Given the description of an element on the screen output the (x, y) to click on. 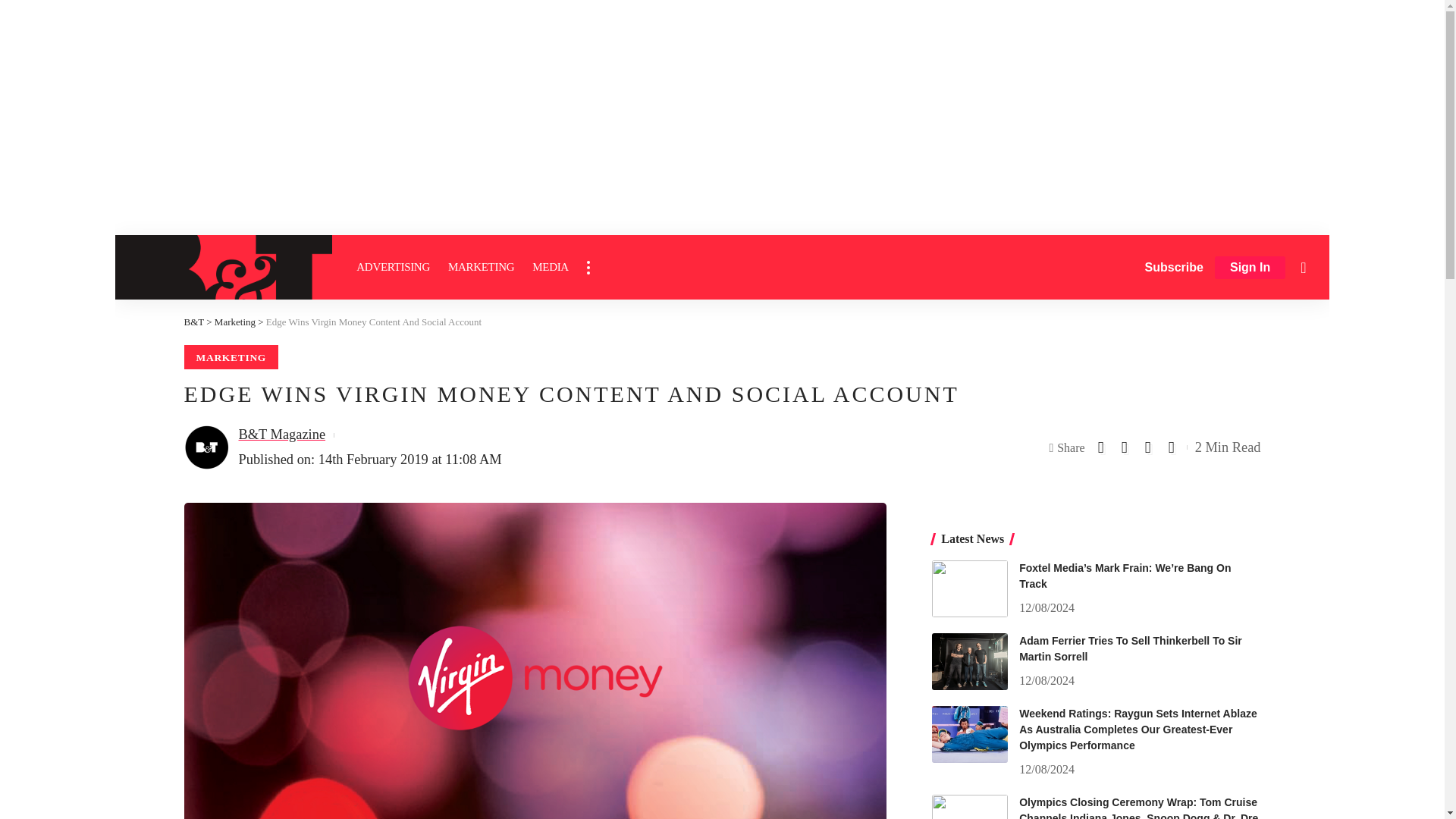
ADVERTISING (393, 267)
Subscribe (1174, 267)
Sign In (1249, 267)
MARKETING (480, 267)
Go to the Marketing Category archives. (235, 321)
